Given the description of an element on the screen output the (x, y) to click on. 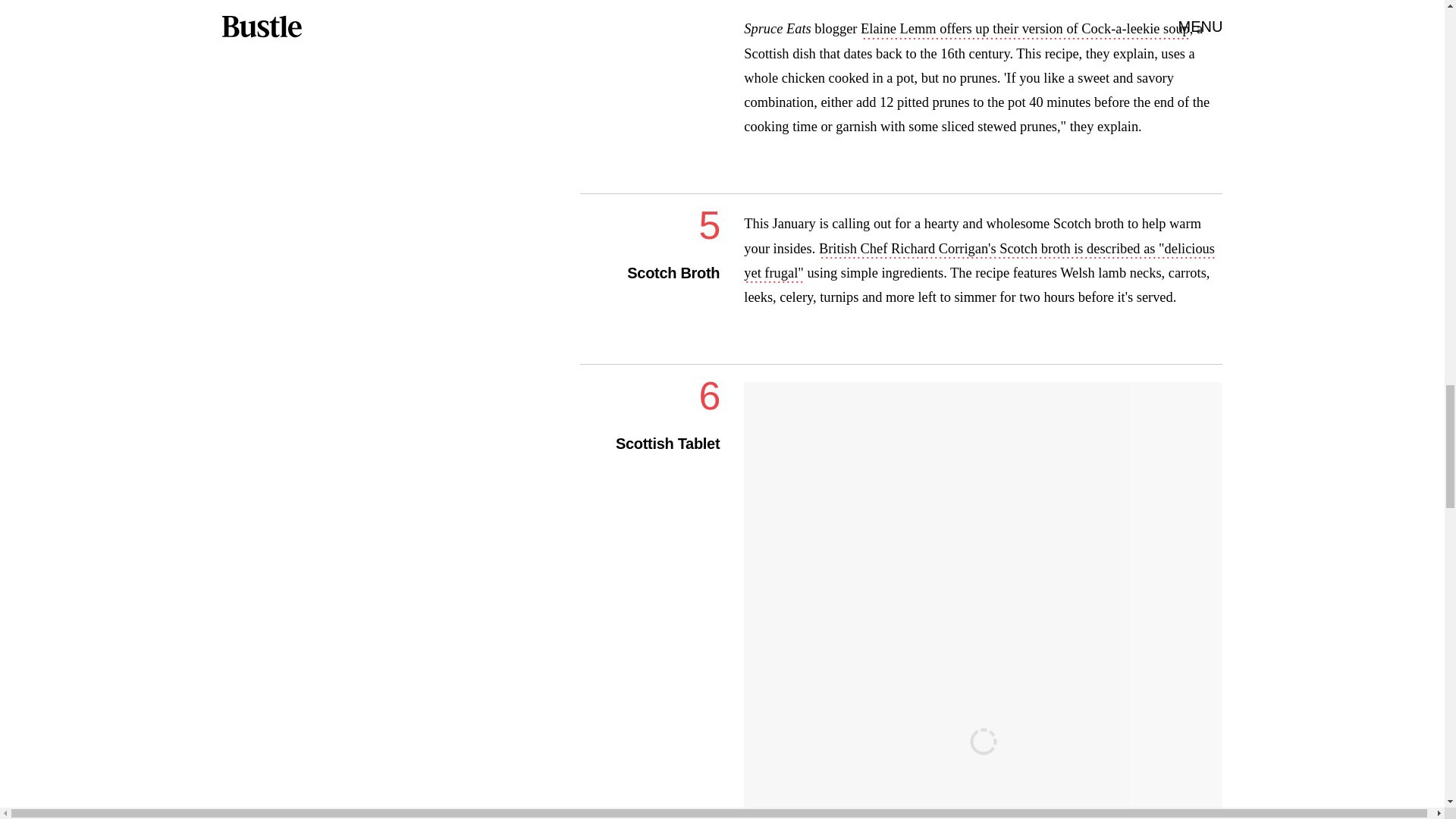
Elaine Lemm offers up their version of Cock-a-leekie soup (1024, 30)
